Given the description of an element on the screen output the (x, y) to click on. 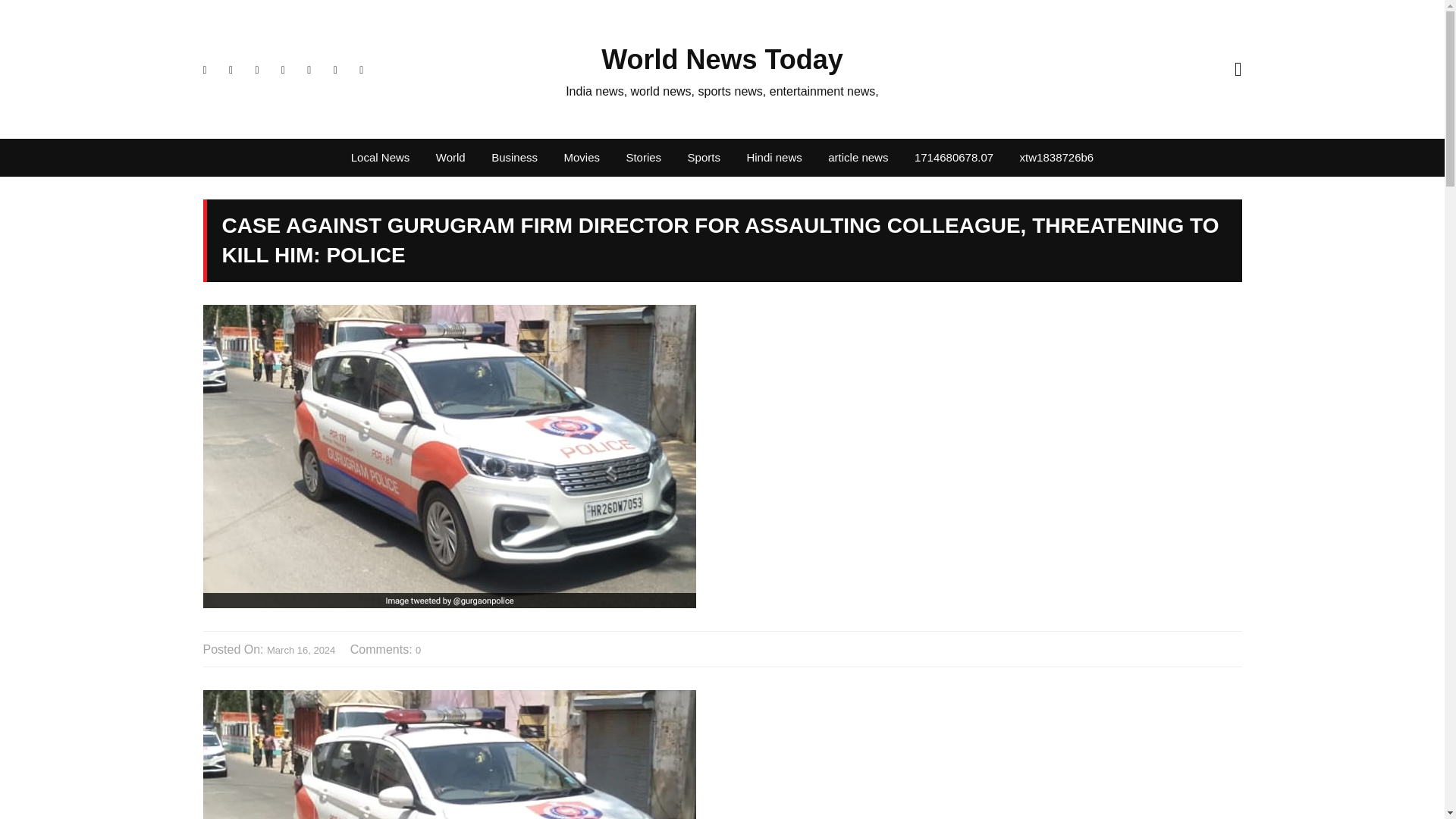
Movies (581, 157)
World (451, 157)
Sports (704, 157)
xtw1838726b6 (1057, 157)
March 16, 2024 (300, 650)
Stories (643, 157)
World News Today (722, 59)
Local News (380, 157)
Business (514, 157)
Hindi news (773, 157)
article news (857, 157)
1714680678.07 (953, 157)
